Given the description of an element on the screen output the (x, y) to click on. 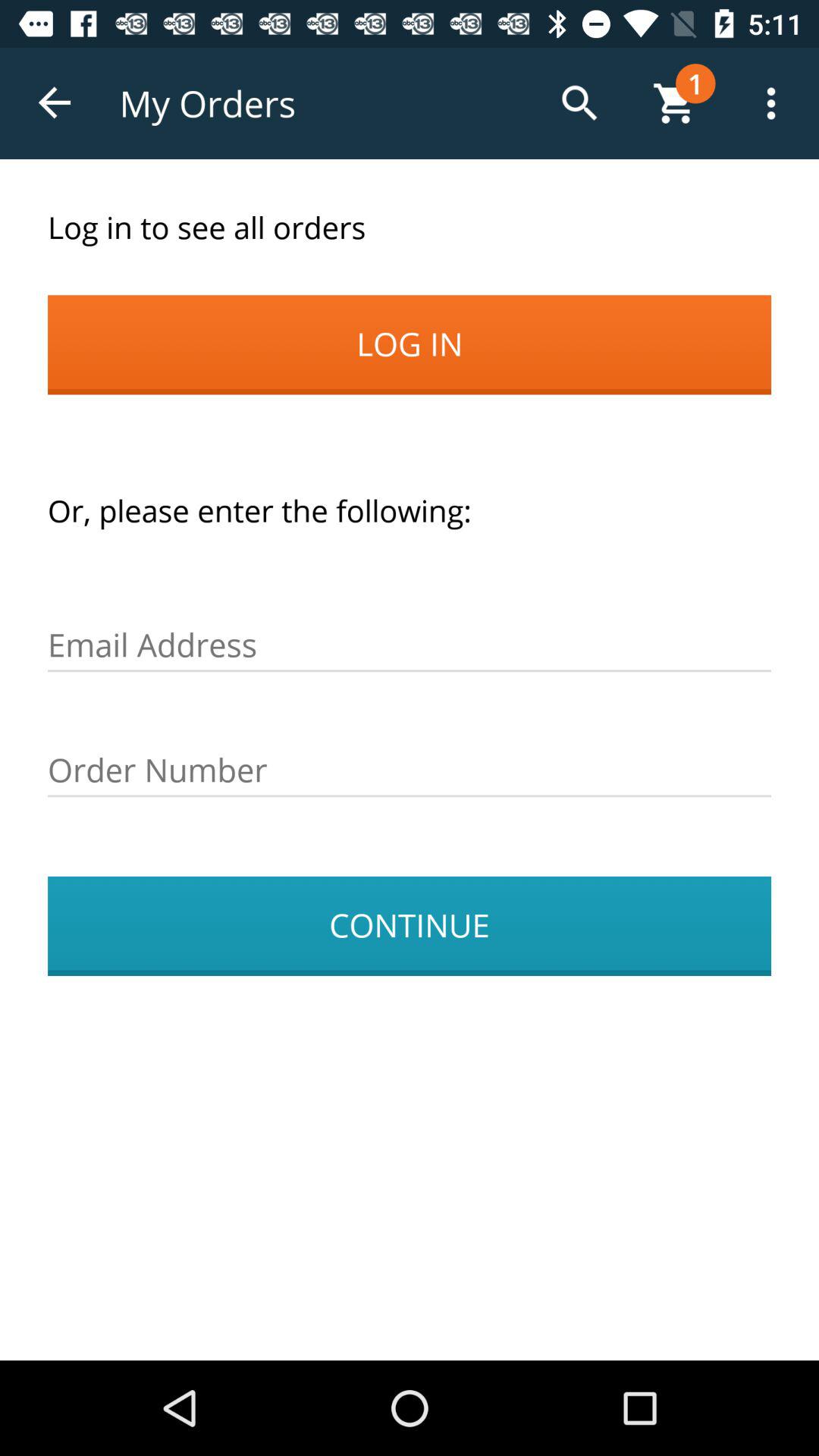
press the icon above the continue item (409, 770)
